Given the description of an element on the screen output the (x, y) to click on. 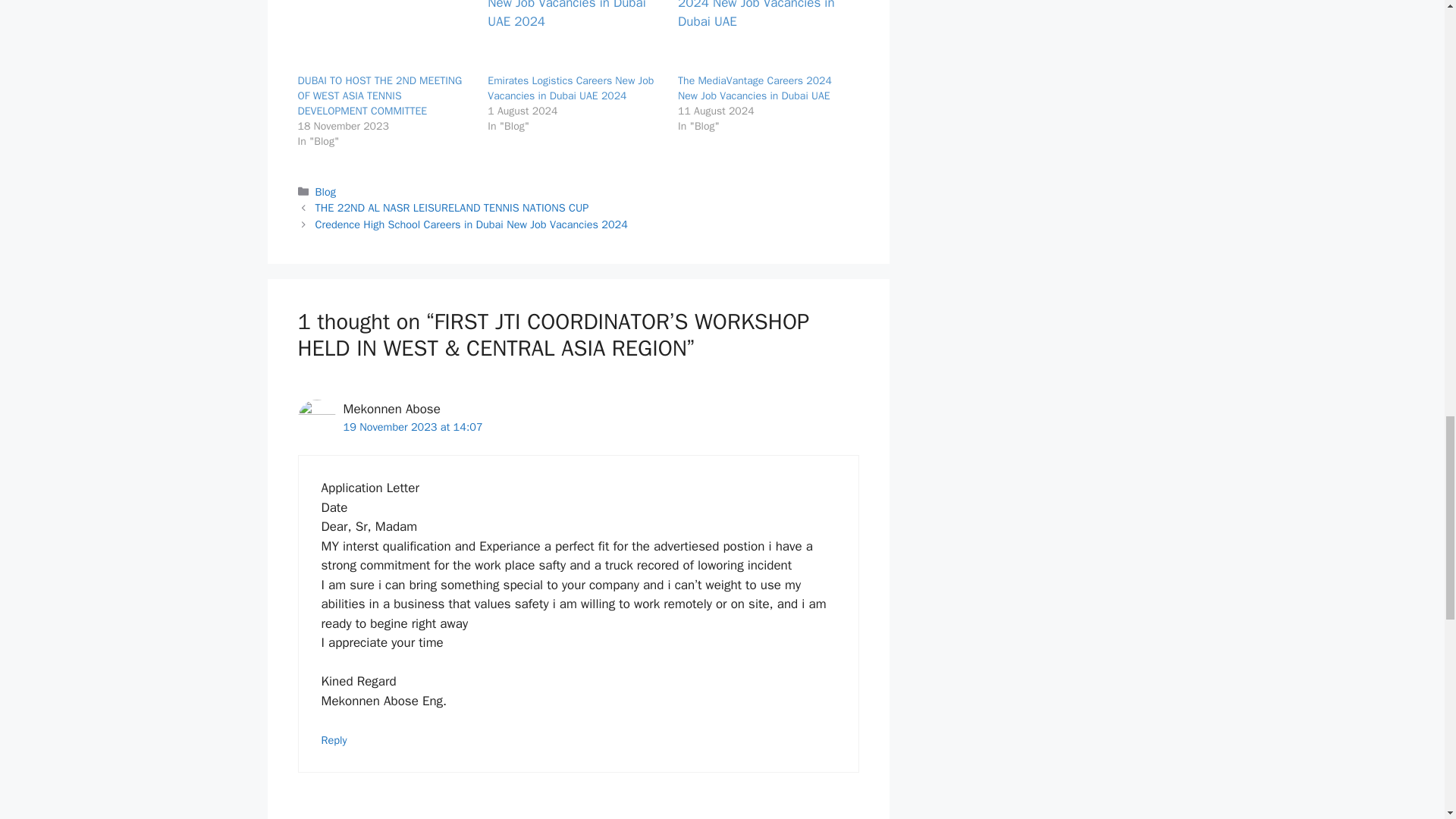
Reply (334, 739)
THE 22ND AL NASR LEISURELAND TENNIS NATIONS CUP (452, 207)
Blog (325, 192)
The MediaVantage Careers 2024 New Job Vacancies in Dubai UAE (754, 88)
Credence High School Careers in Dubai New Job Vacancies 2024 (471, 223)
The MediaVantage Careers 2024 New Job Vacancies in Dubai UAE (754, 88)
The MediaVantage Careers 2024 New Job Vacancies in Dubai UAE (765, 36)
